Given the description of an element on the screen output the (x, y) to click on. 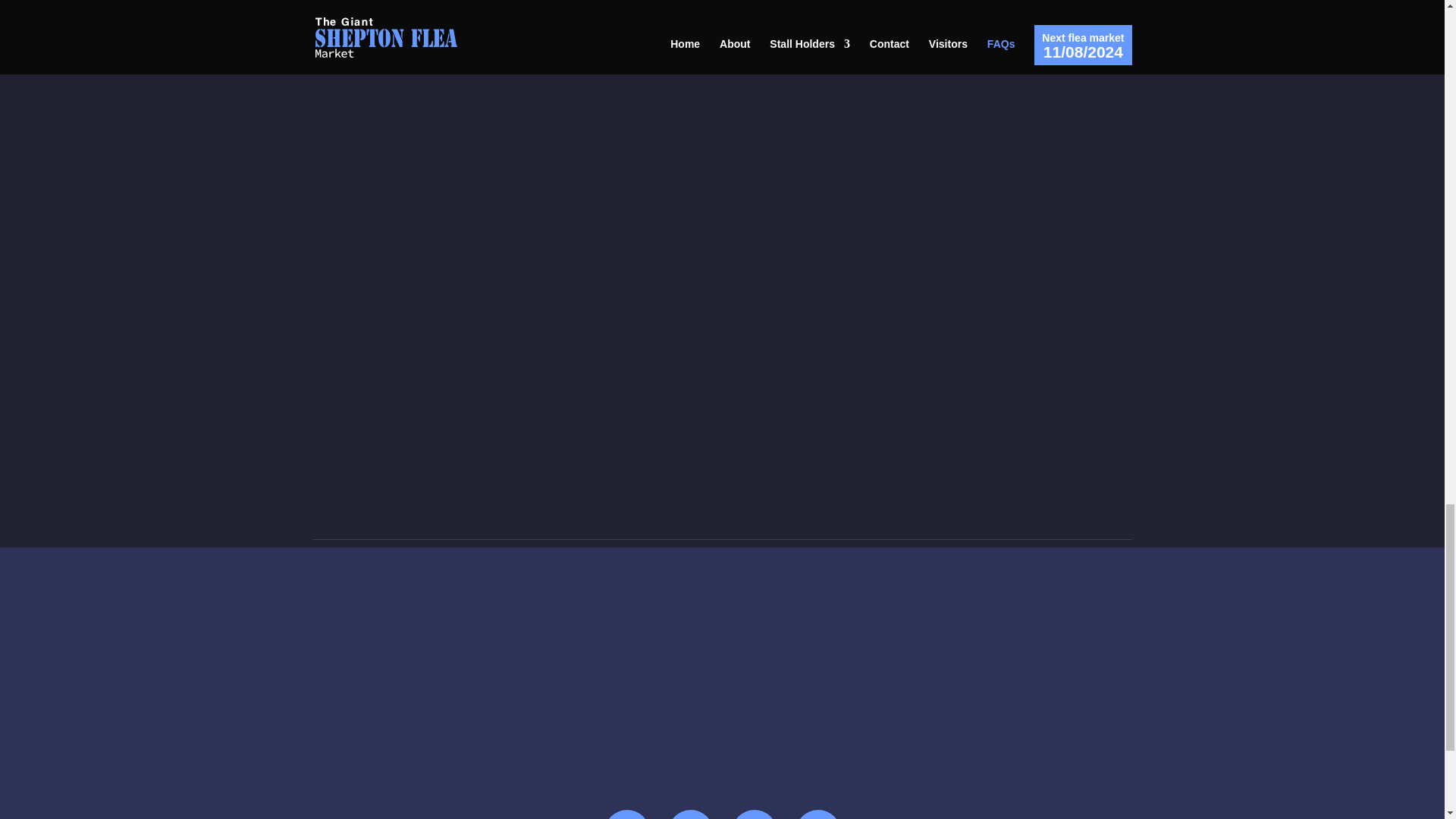
Follow on Facebook (626, 814)
Follow on Twitter (689, 814)
Follow on Instagram (753, 814)
Follow on Pinterest (817, 814)
